Given the description of an element on the screen output the (x, y) to click on. 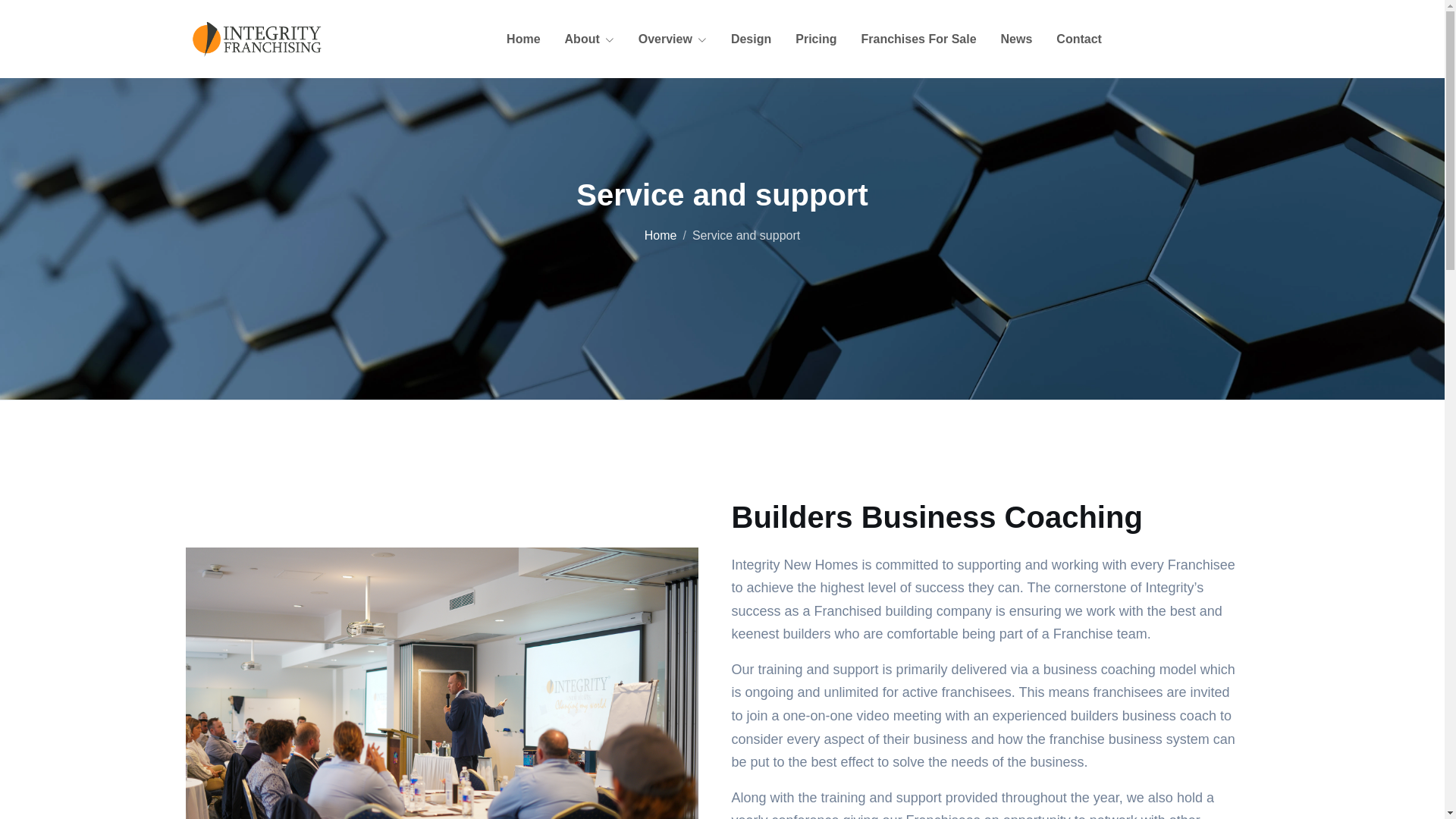
Design Element type: text (750, 38)
Overview Element type: text (672, 38)
Contact Element type: text (1078, 38)
Pricing Element type: text (815, 38)
Franchises For Sale Element type: text (918, 38)
News Element type: text (1016, 38)
Home Element type: text (660, 235)
About Element type: text (589, 38)
Home Element type: text (523, 38)
